Given the description of an element on the screen output the (x, y) to click on. 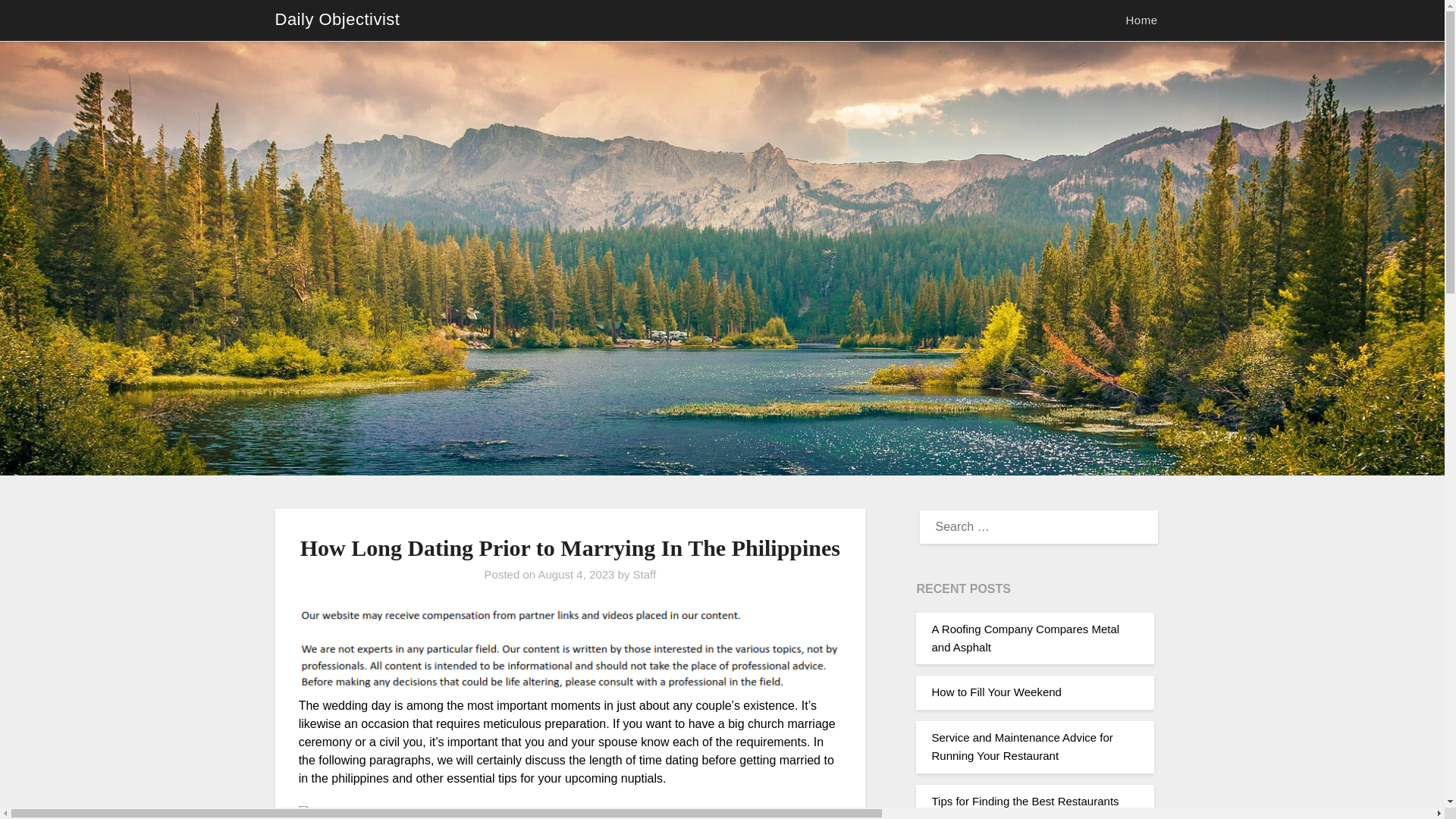
Daily Objectivist (336, 19)
Search (38, 22)
Home (1141, 20)
Service and Maintenance Advice for Running Your Restaurant (1021, 746)
Staff (644, 574)
August 4, 2023 (576, 574)
A Roofing Company Compares Metal and Asphalt (1025, 637)
Tips for Finding the Best Restaurants Near You (1024, 806)
How to Fill Your Weekend (996, 691)
